Given the description of an element on the screen output the (x, y) to click on. 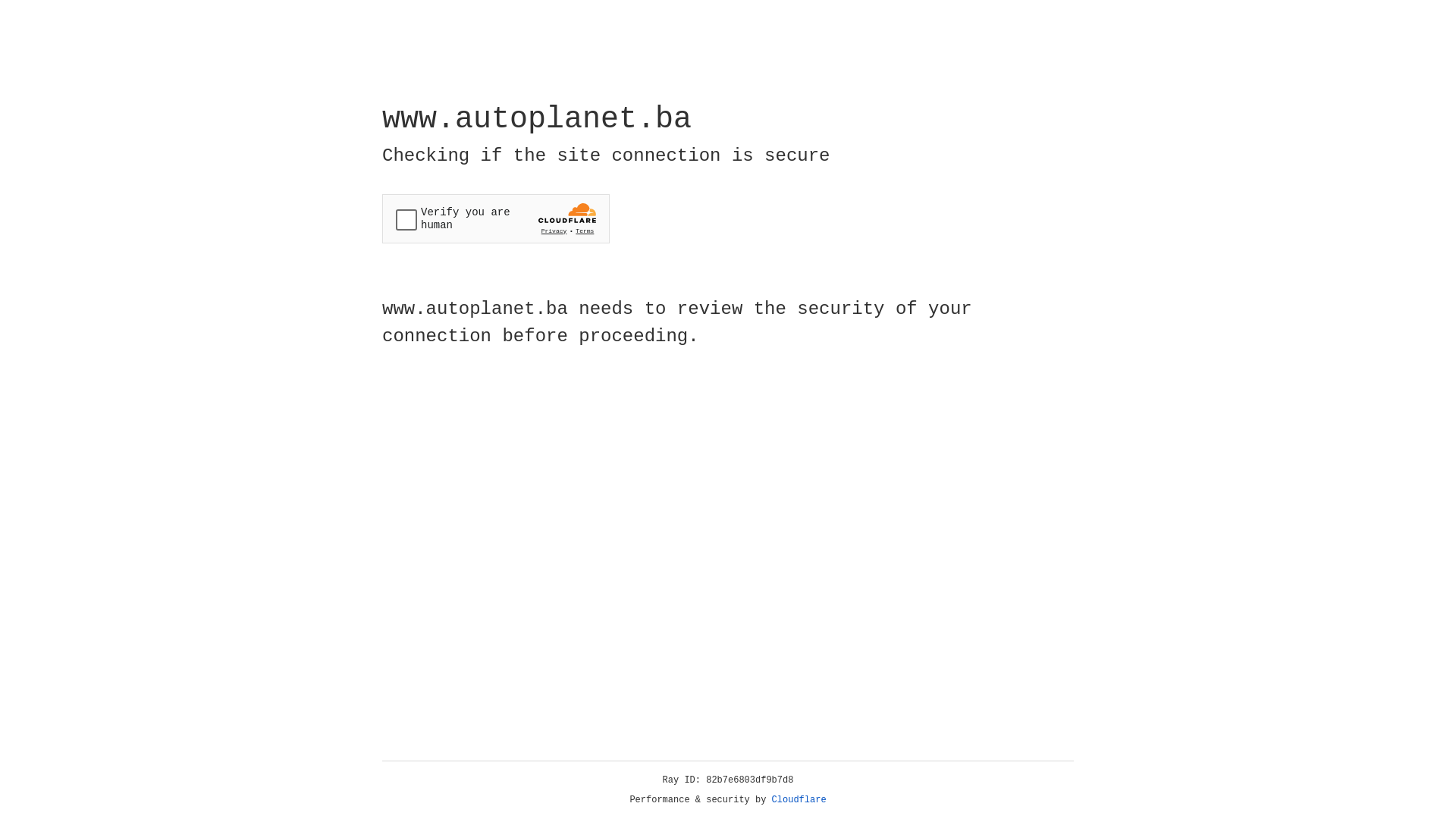
Cloudflare Element type: text (798, 799)
Widget containing a Cloudflare security challenge Element type: hover (495, 218)
